Given the description of an element on the screen output the (x, y) to click on. 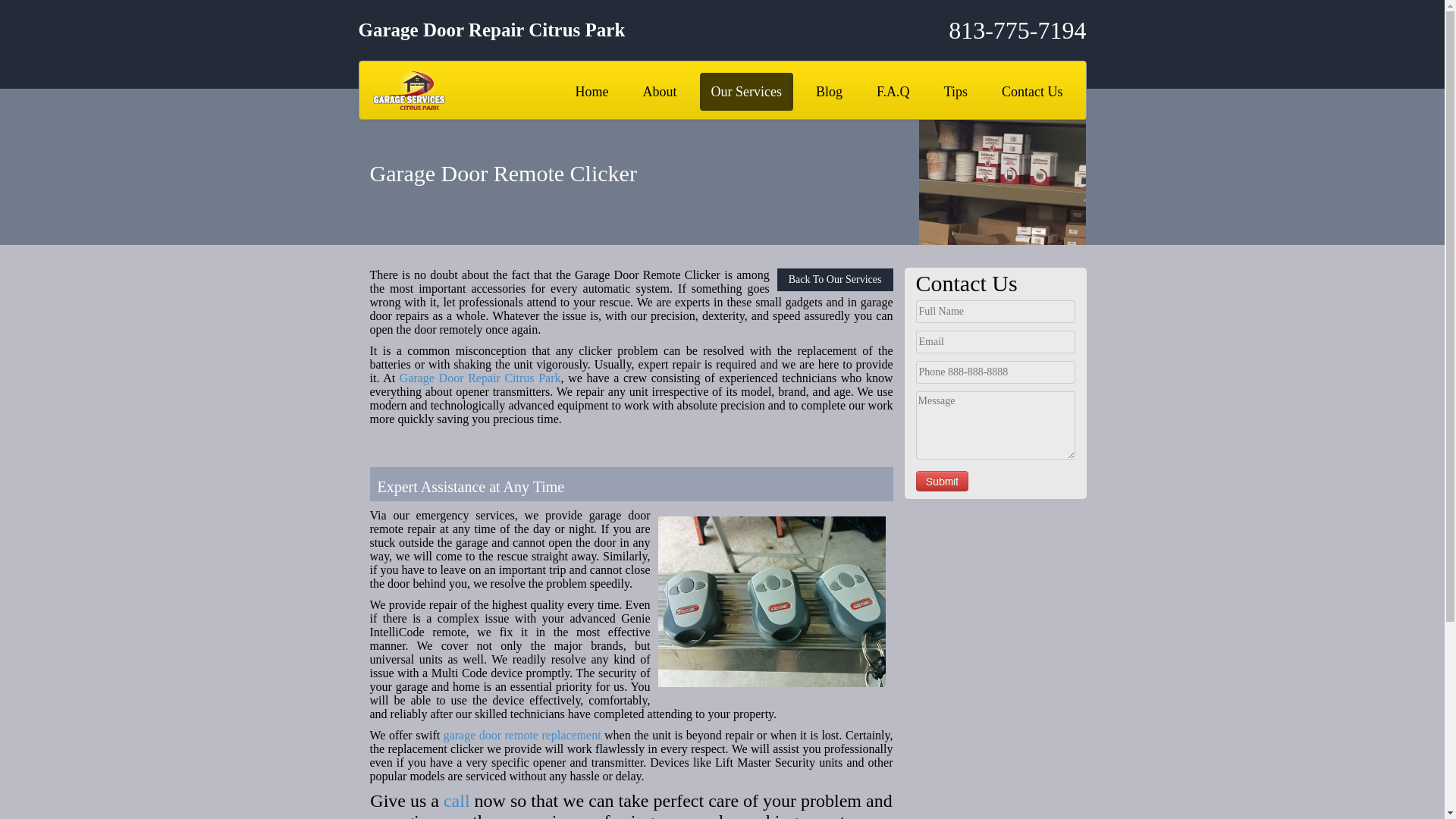
Garage Door Repair Citrus Park (479, 377)
call (457, 800)
813-775-7194 (964, 30)
About (659, 91)
Garage Door Remote Clicker (771, 601)
Contact Us (1032, 91)
Garage Door Repair Citrus Park (479, 377)
Our Services (746, 91)
garage door remote replacement (522, 735)
Back To Our Services (835, 279)
